Given the description of an element on the screen output the (x, y) to click on. 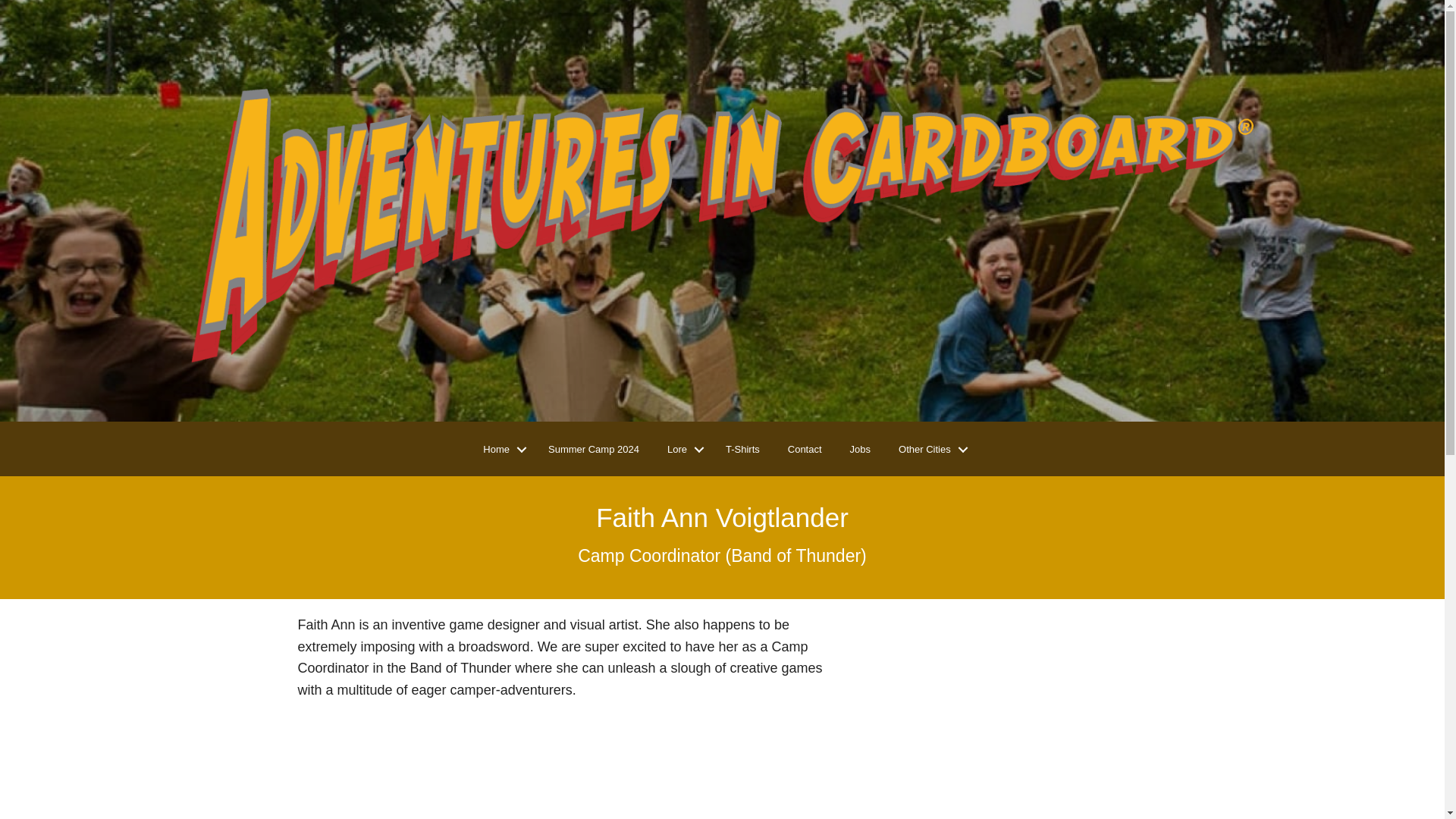
Home (501, 449)
Lore (682, 449)
Contact (804, 449)
T-Shirts (742, 449)
Other Cities (930, 449)
faun faithann (1005, 716)
Summer Camp 2024 (593, 449)
Jobs (859, 449)
